Given the description of an element on the screen output the (x, y) to click on. 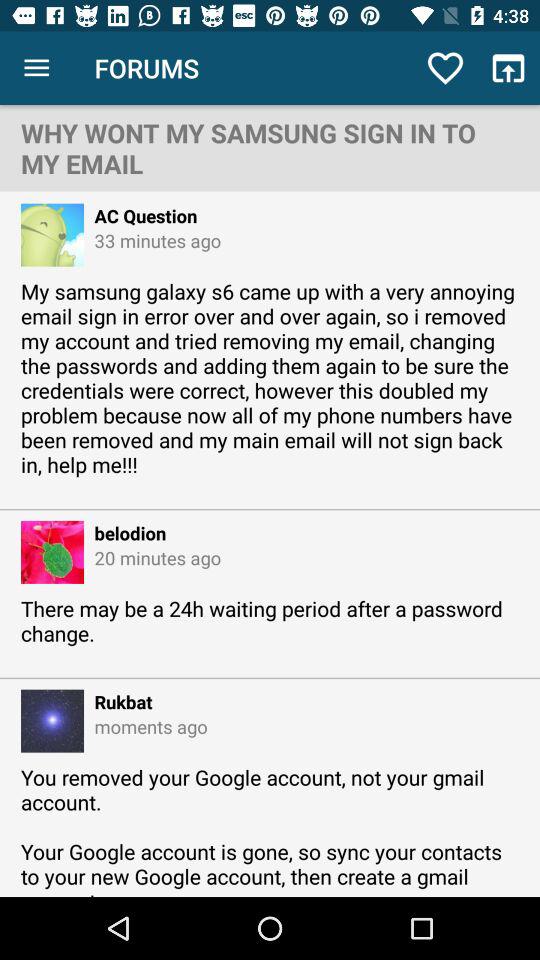
launch the item above you removed your icon (145, 726)
